Given the description of an element on the screen output the (x, y) to click on. 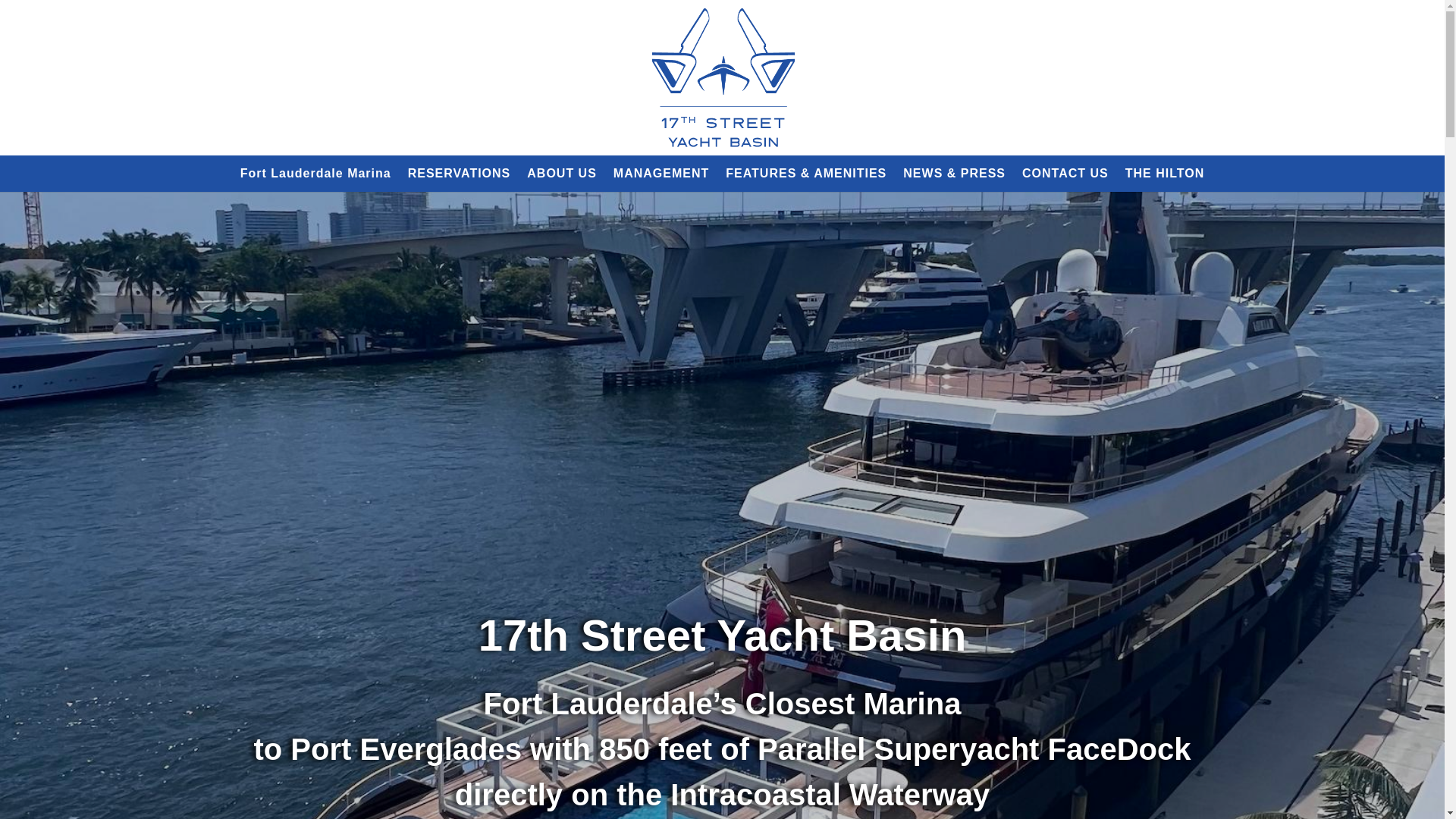
ABOUT US Element type: text (561, 173)
FEATURES & AMENITIES Element type: text (805, 173)
THE HILTON Element type: text (1164, 173)
MANAGEMENT Element type: text (661, 173)
Fort Lauderdale Marina Element type: text (315, 173)
NEWS & PRESS Element type: text (954, 173)
CONTACT US Element type: text (1065, 173)
RESERVATIONS Element type: text (459, 173)
